Given the description of an element on the screen output the (x, y) to click on. 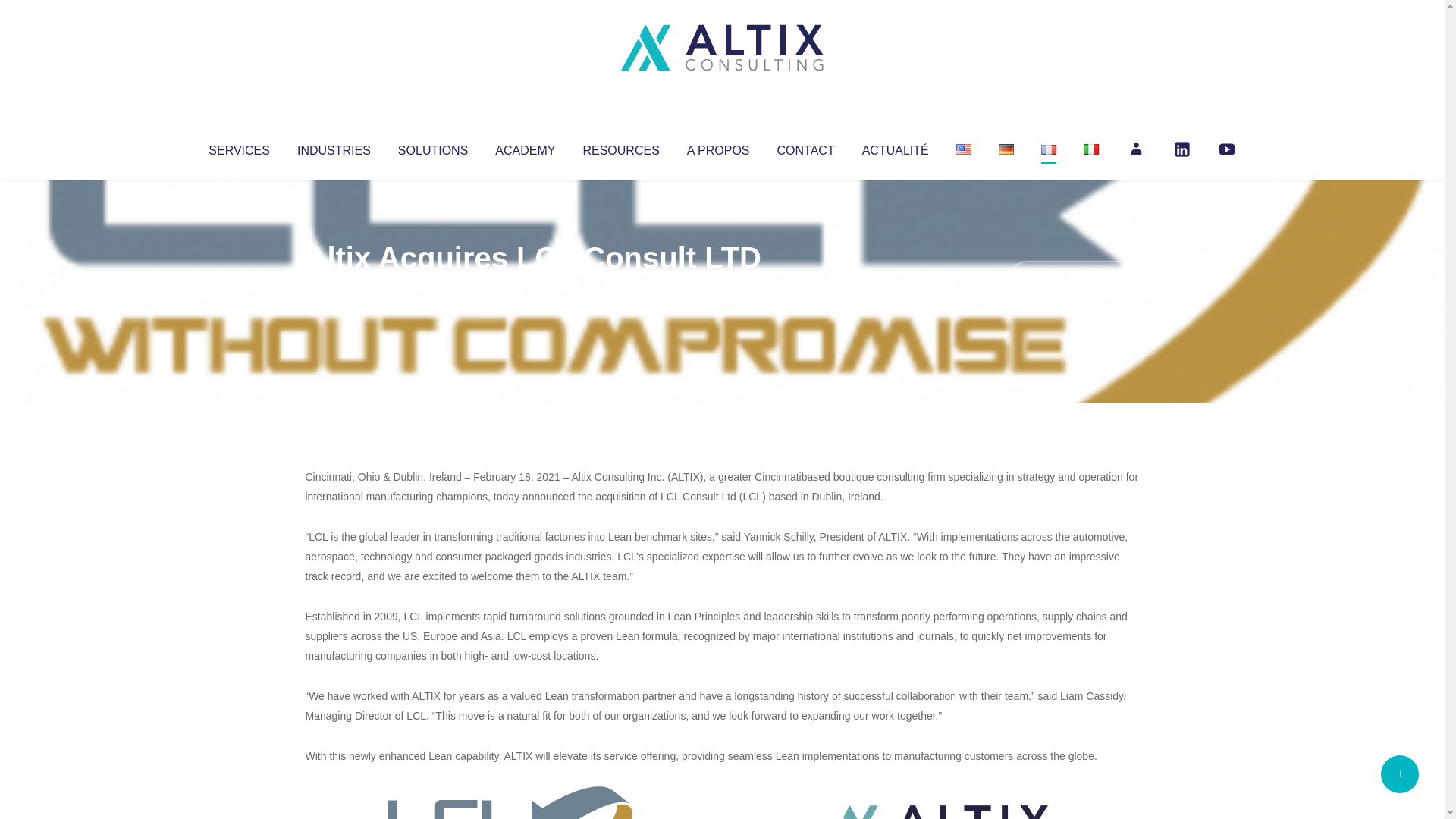
A PROPOS (718, 146)
RESOURCES (620, 146)
SOLUTIONS (432, 146)
INDUSTRIES (334, 146)
No Comments (1073, 278)
ACADEMY (524, 146)
Articles par Altix (333, 287)
Altix (333, 287)
Uncategorized (530, 287)
SERVICES (238, 146)
